Given the description of an element on the screen output the (x, y) to click on. 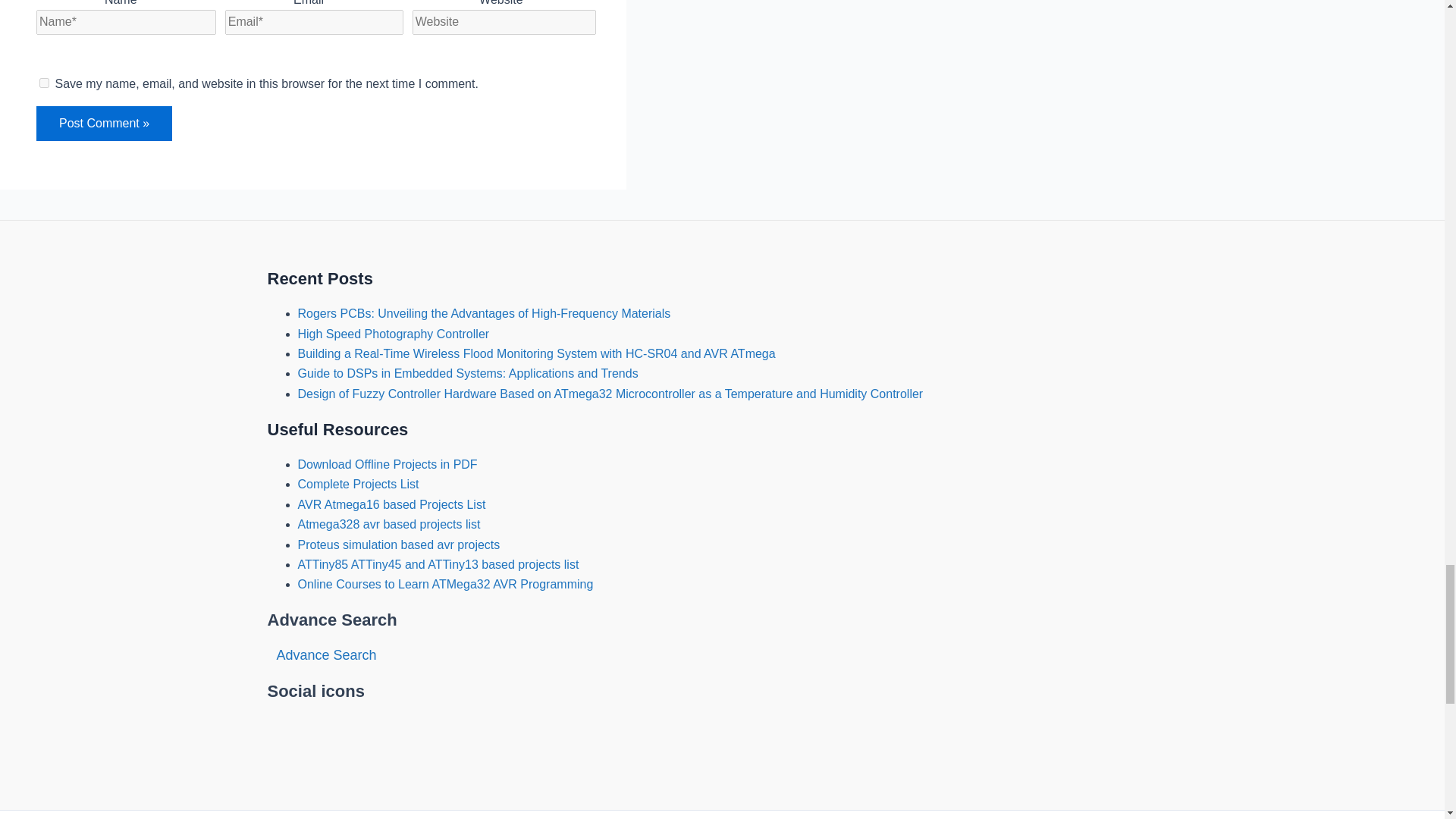
Download Offline Projects in PDF (387, 463)
yes (44, 82)
